Given the description of an element on the screen output the (x, y) to click on. 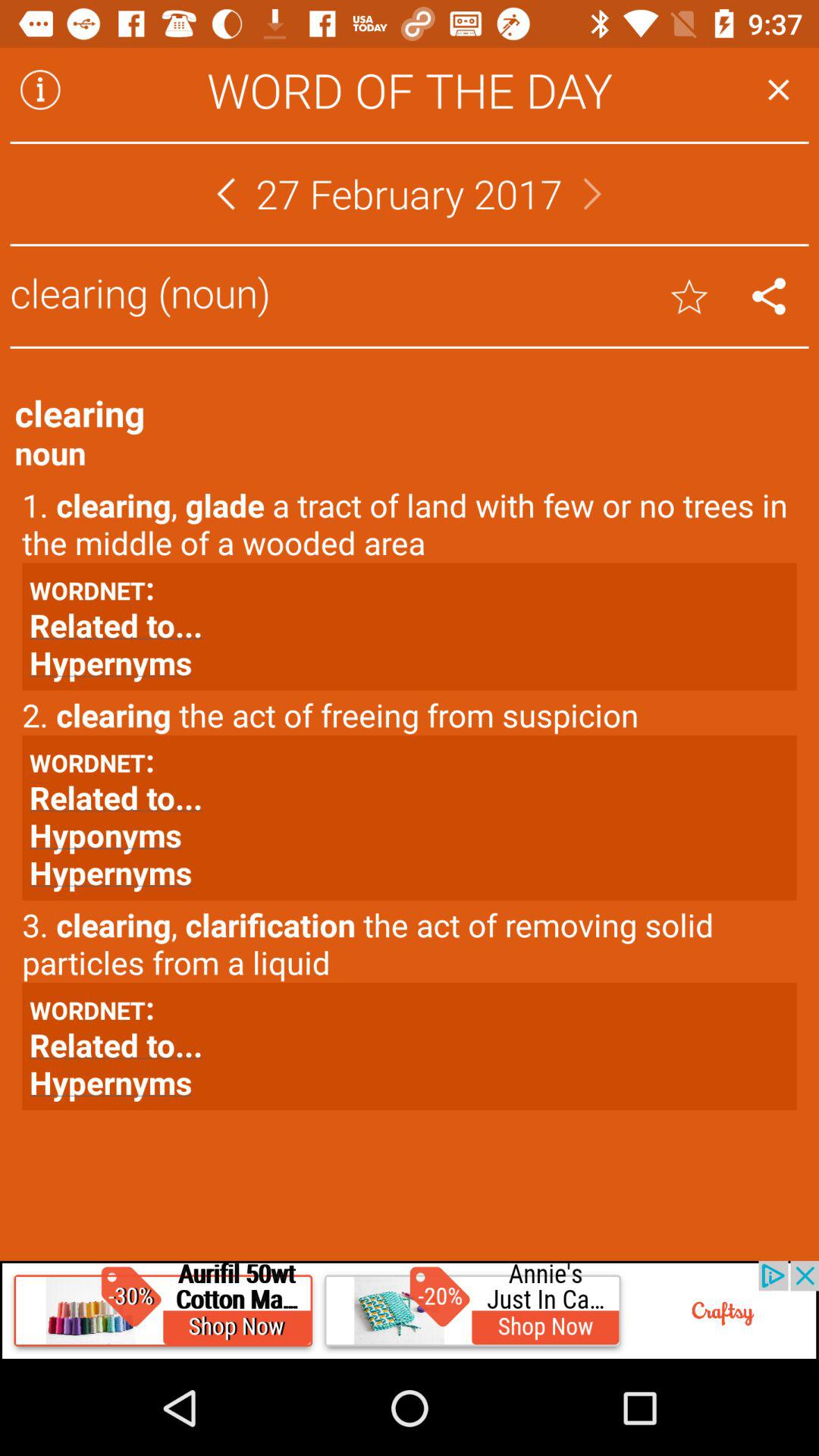
added to favourites (689, 296)
